Given the description of an element on the screen output the (x, y) to click on. 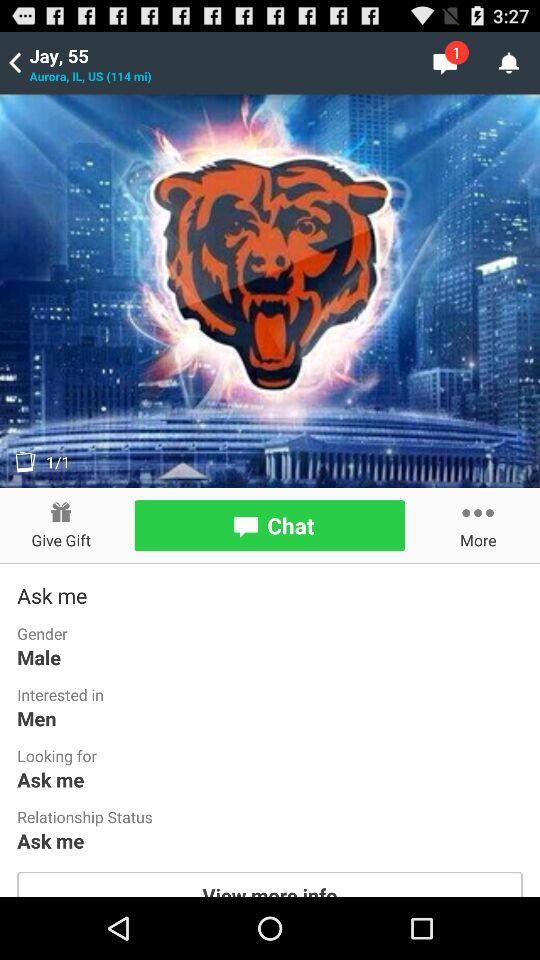
select the chat bar (269, 525)
